Given the description of an element on the screen output the (x, y) to click on. 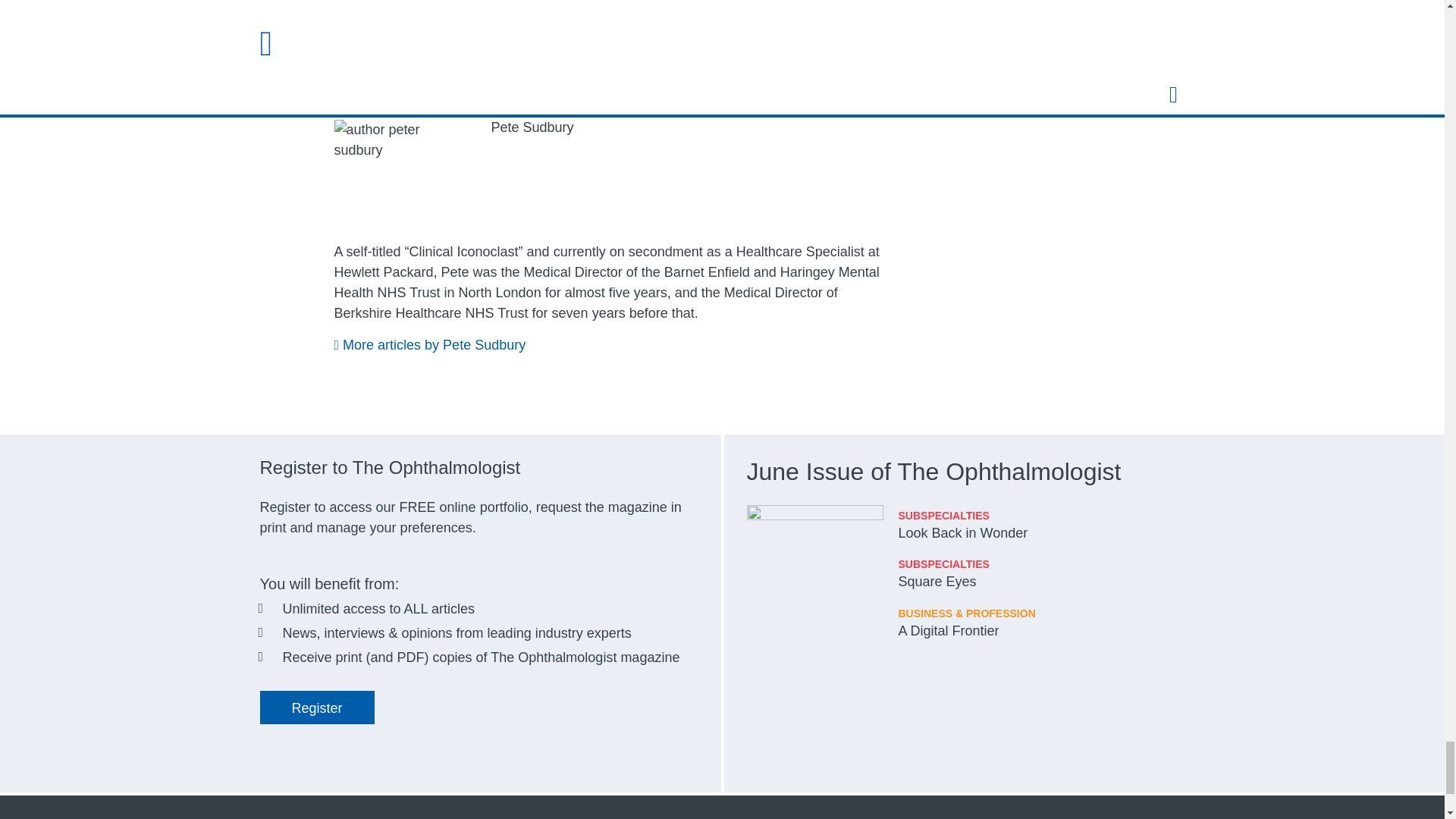
More articles by Pete Sudbury (429, 344)
Professional Development, (589, 9)
author peter sudbury (402, 165)
Other (687, 9)
